Given the description of an element on the screen output the (x, y) to click on. 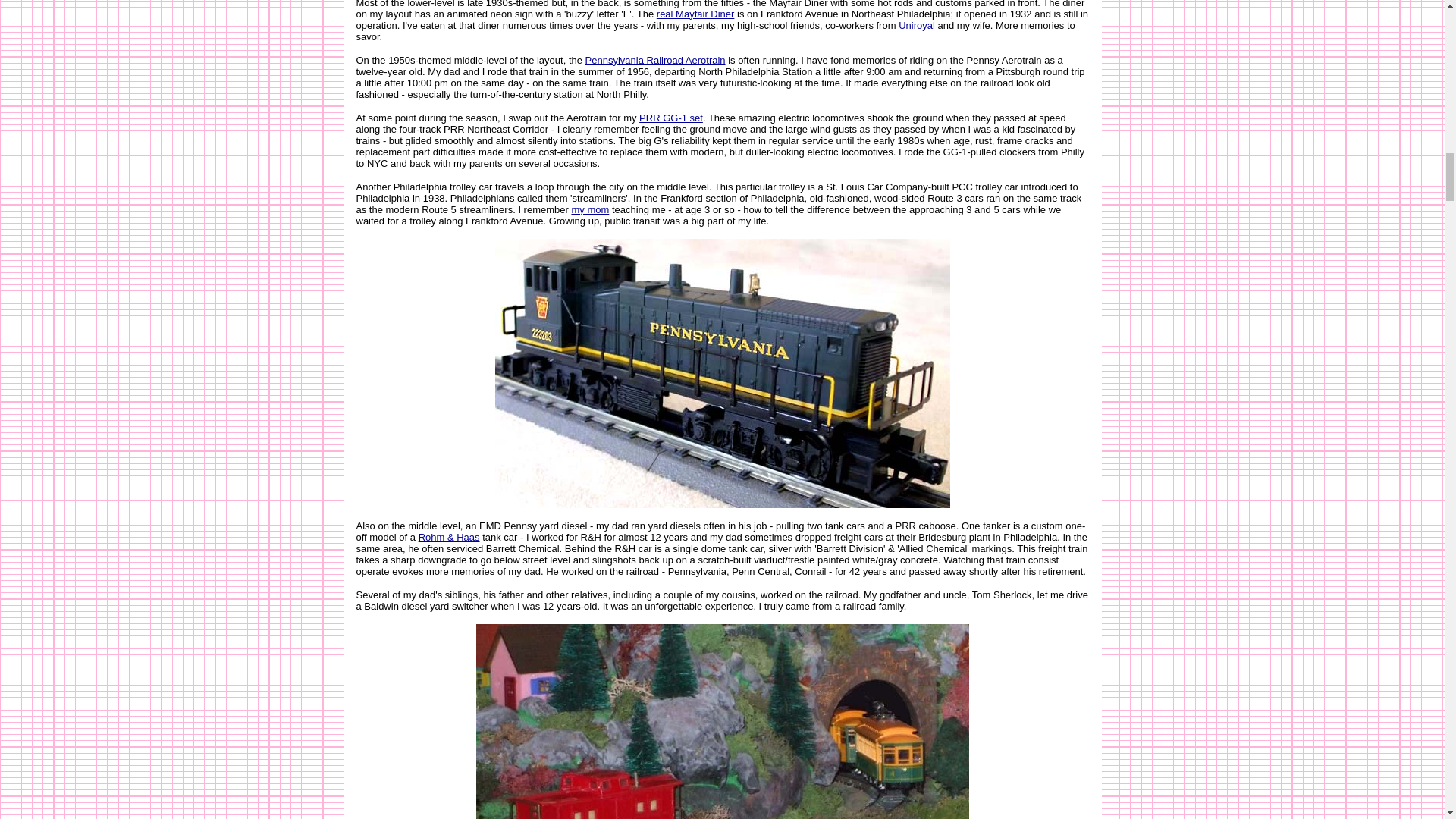
my mom (589, 208)
real Mayfair Diner (695, 12)
Pennsylvania Railroad Aerotrain (655, 60)
Uniroyal (916, 25)
PRR GG-1 set (671, 117)
